Given the description of an element on the screen output the (x, y) to click on. 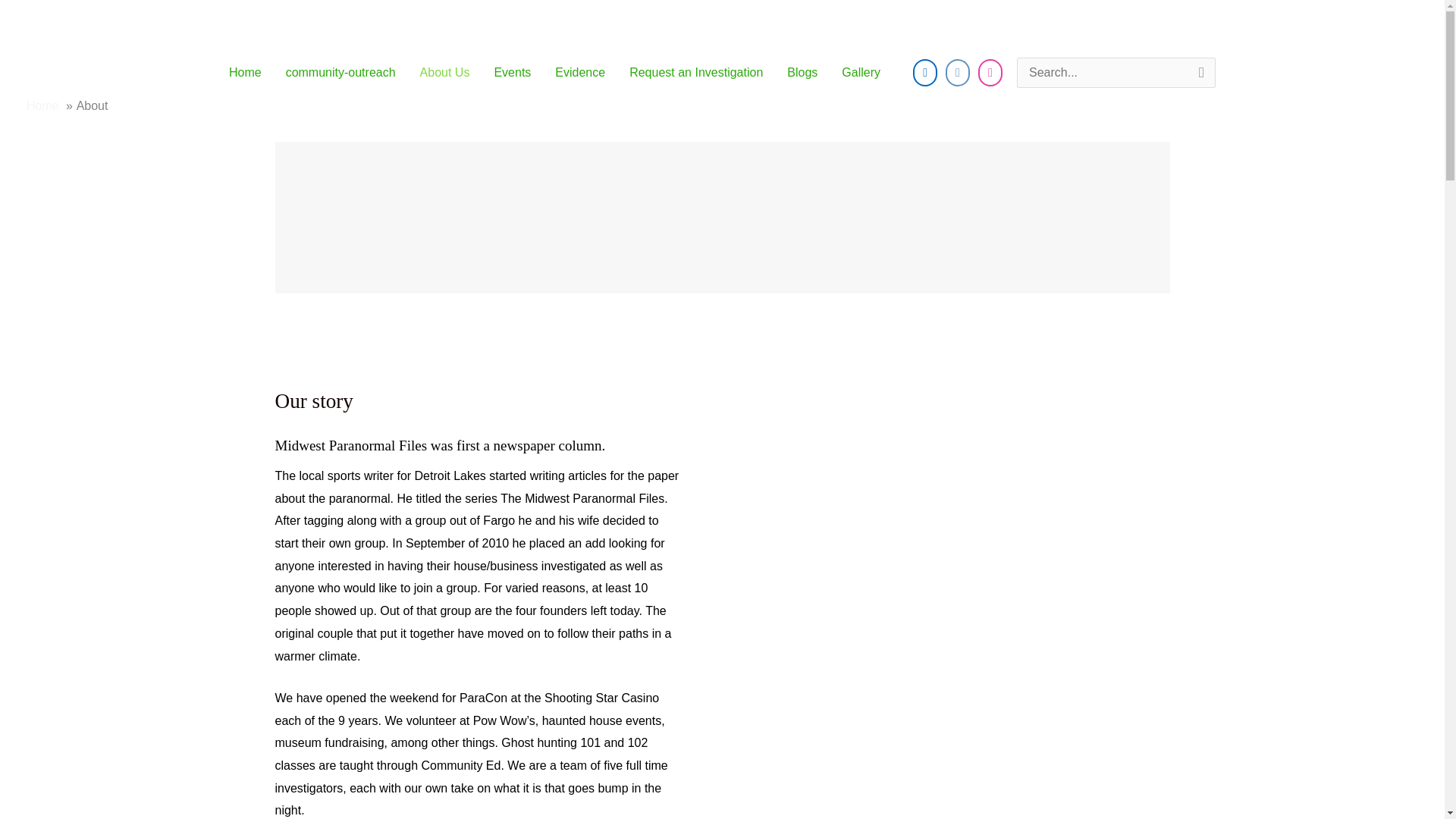
Request an Investigation (695, 72)
Home (42, 105)
Home (244, 72)
About Us (444, 72)
Midwest Paranormal Files on Facebook (924, 72)
Events (512, 72)
Blogs (801, 72)
Midwest Paranormal Files on X Twitter (956, 72)
community-outreach (340, 72)
Evidence (580, 72)
